Given the description of an element on the screen output the (x, y) to click on. 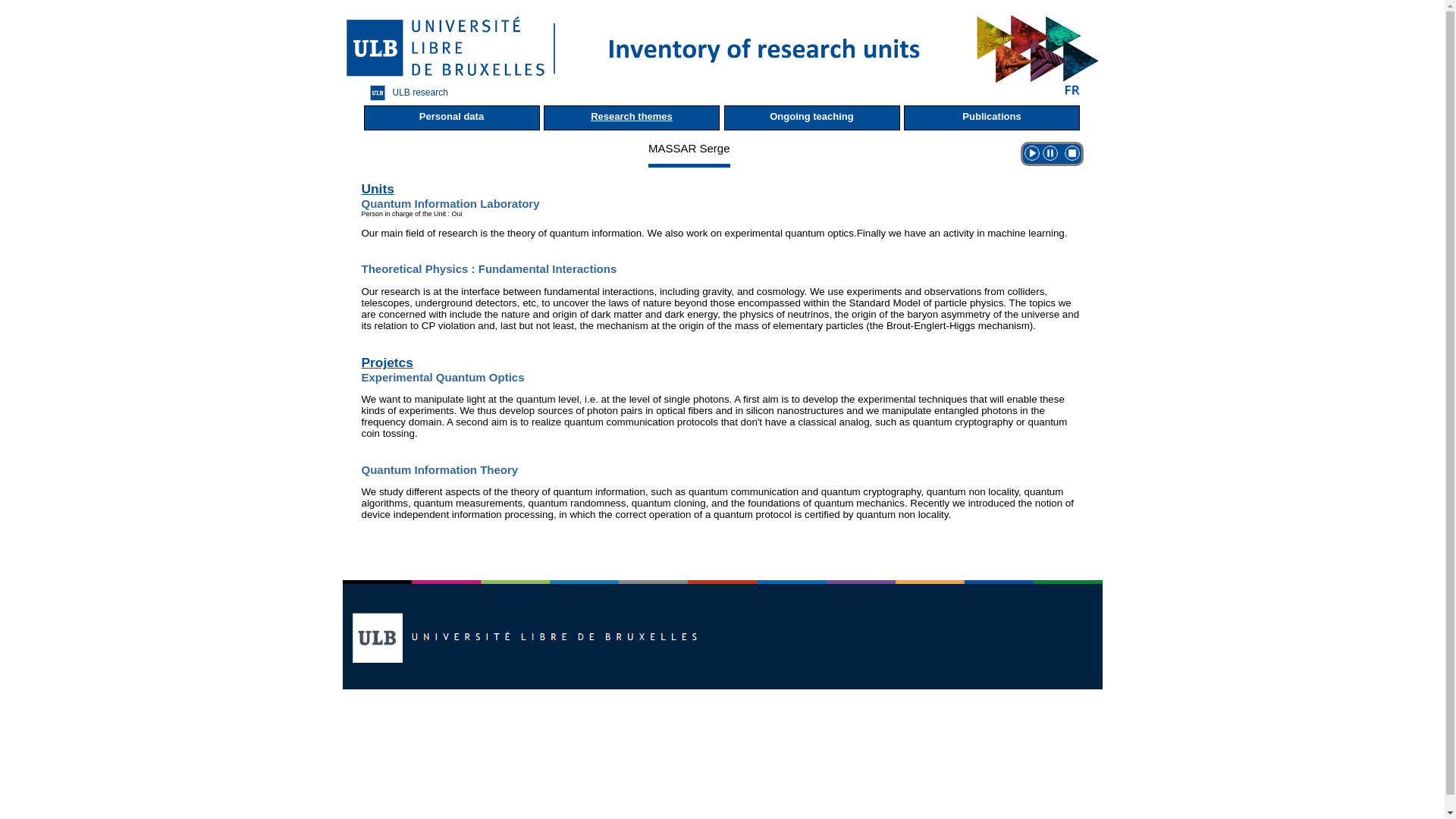
Experimental Quantum Optics (442, 377)
Quantum Information Laboratory (449, 203)
ULB research (406, 92)
Research themes (631, 117)
Personal data (452, 117)
Theoretical Physics : Fundamental Interactions (488, 268)
Quantum Information Theory (439, 469)
